Given the description of an element on the screen output the (x, y) to click on. 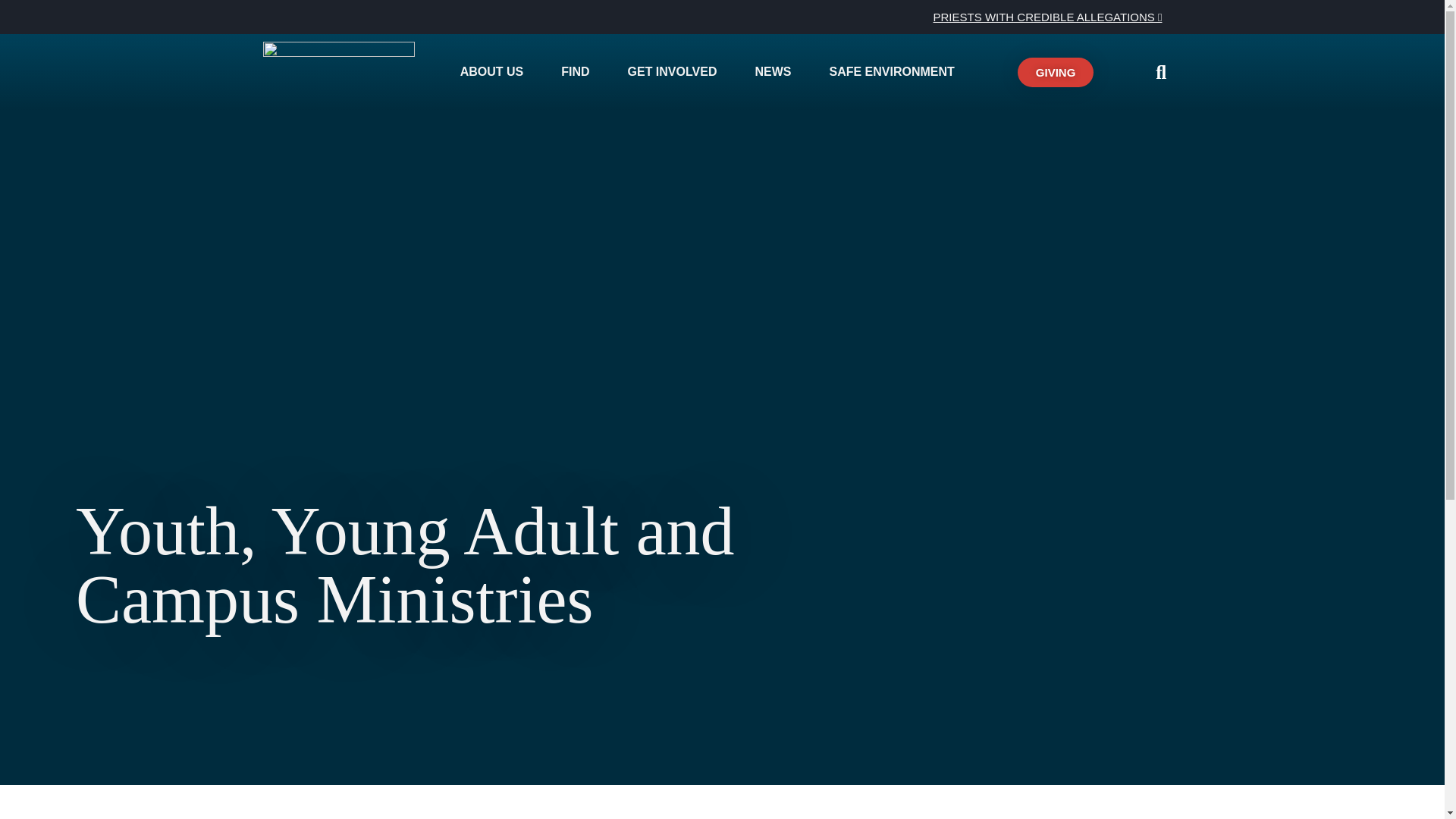
FIND (578, 71)
SAFE ENVIRONMENT (894, 71)
ABOUT US (496, 71)
NEWS (776, 71)
GET INVOLVED (675, 71)
